Given the description of an element on the screen output the (x, y) to click on. 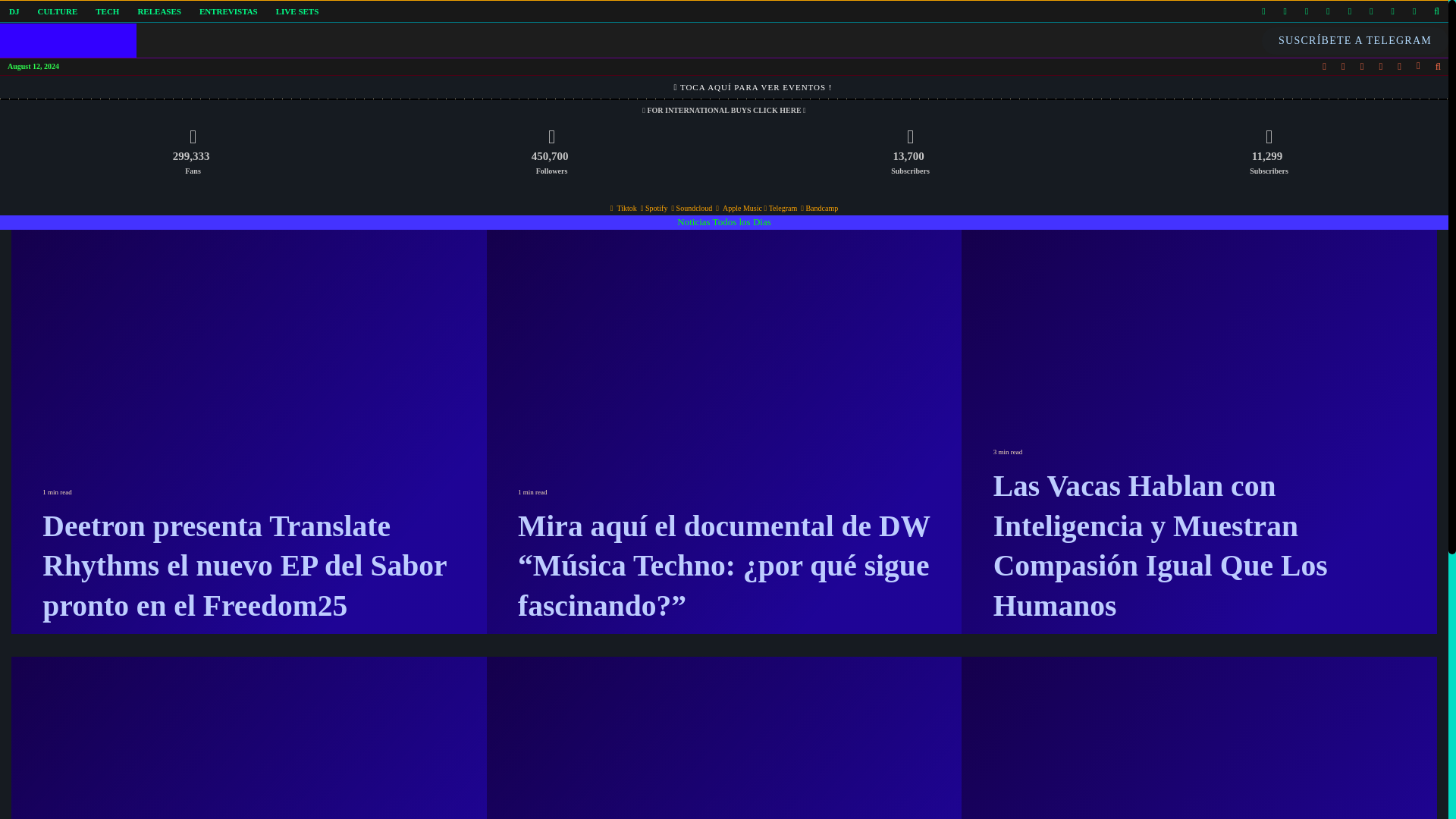
TECH (106, 11)
RELEASES (158, 11)
DJ (13, 11)
CULTURE (56, 11)
